Given the description of an element on the screen output the (x, y) to click on. 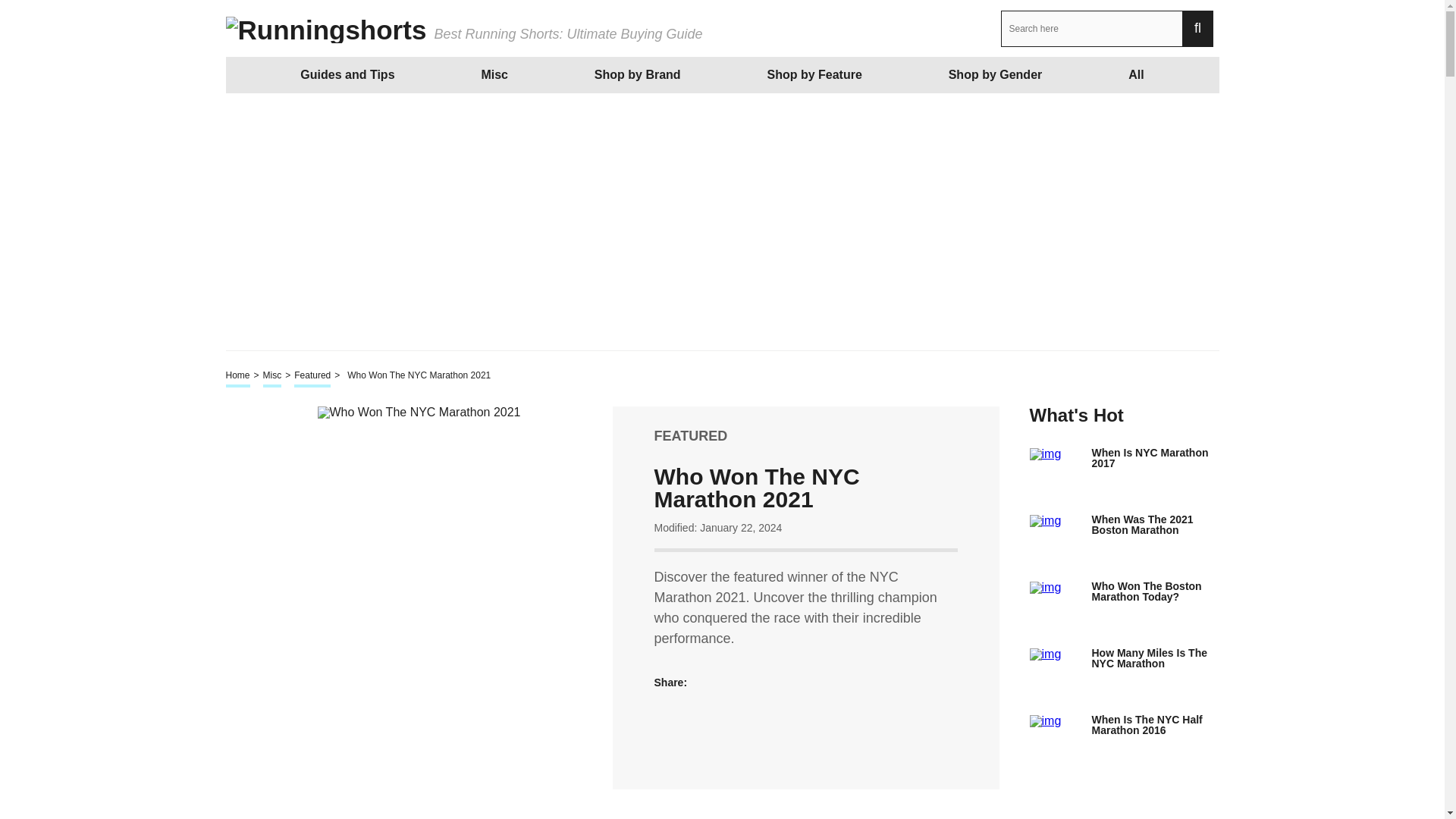
Shop by Brand (638, 74)
Guides and Tips (347, 74)
Misc (493, 74)
